Given the description of an element on the screen output the (x, y) to click on. 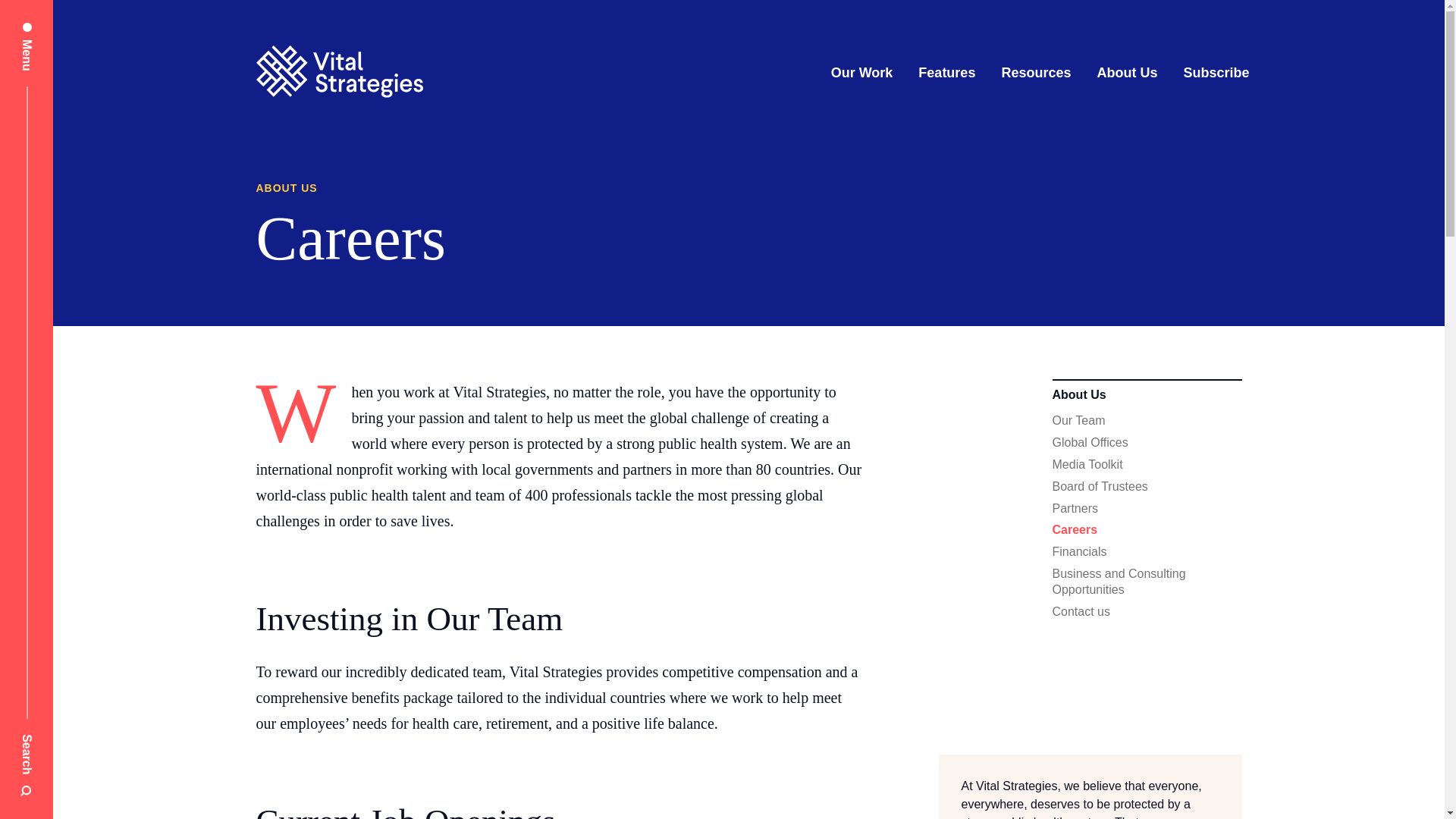
Subscribe (1215, 72)
Vital Strategies Home (339, 72)
About Us (1126, 72)
Features (946, 72)
Resources (1035, 72)
Our Work (862, 72)
